Given the description of an element on the screen output the (x, y) to click on. 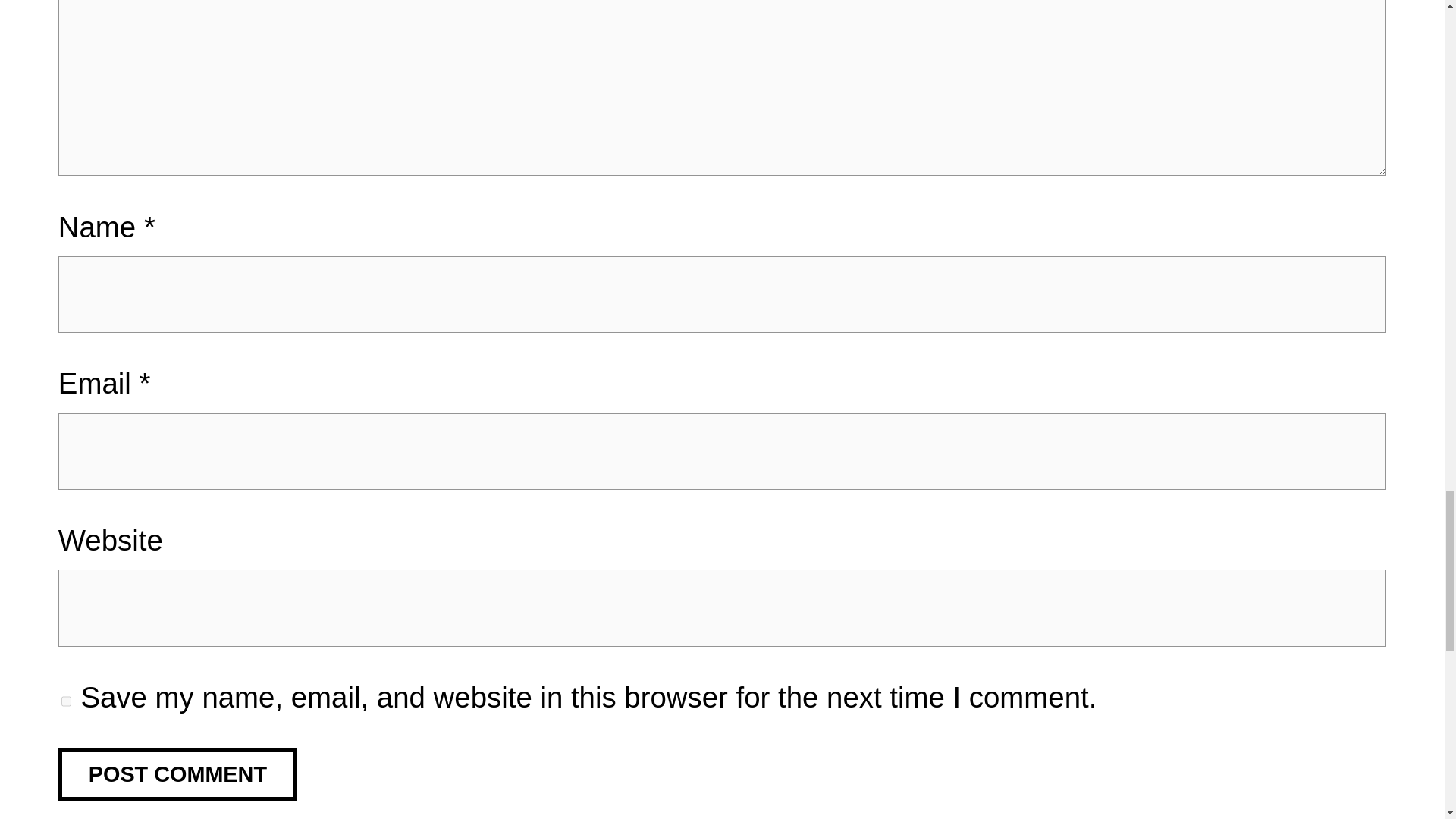
Post Comment (177, 774)
Post Comment (177, 774)
